Given the description of an element on the screen output the (x, y) to click on. 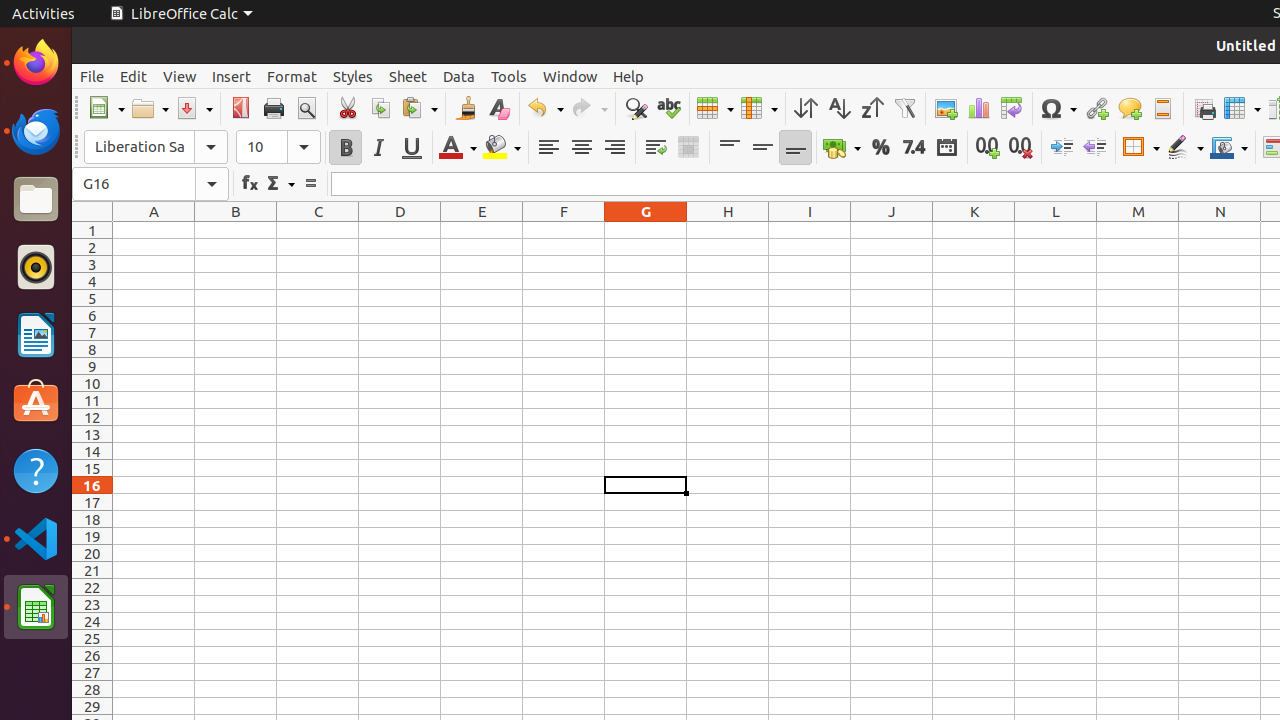
Name Box Element type: combo-box (150, 184)
Font Name Element type: combo-box (156, 147)
Align Top Element type: push-button (729, 147)
Align Center Element type: push-button (581, 147)
AutoFilter Element type: push-button (904, 108)
